Given the description of an element on the screen output the (x, y) to click on. 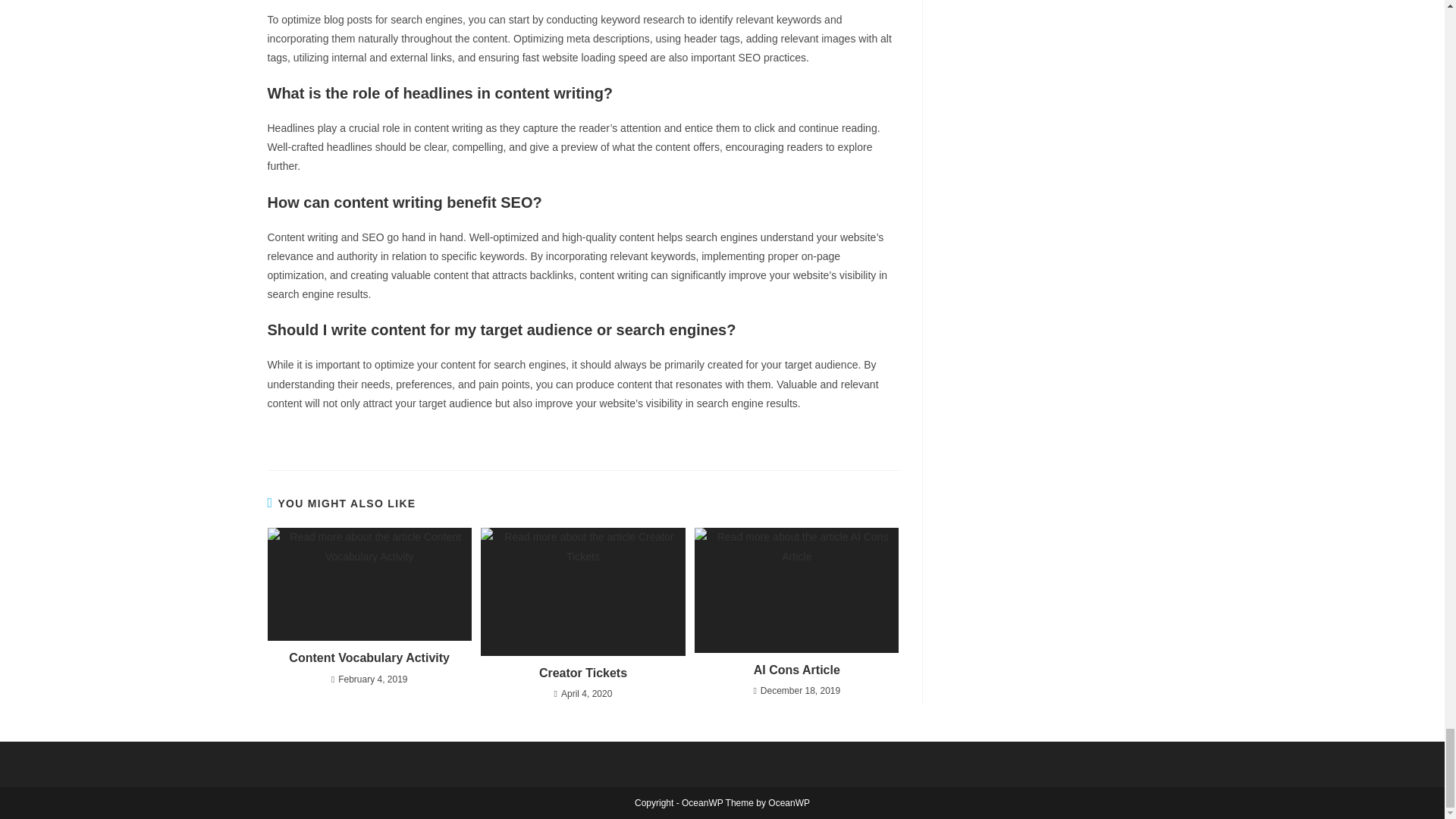
AI Cons Article (796, 669)
Creator Tickets (582, 673)
Content Vocabulary Activity (368, 658)
